Given the description of an element on the screen output the (x, y) to click on. 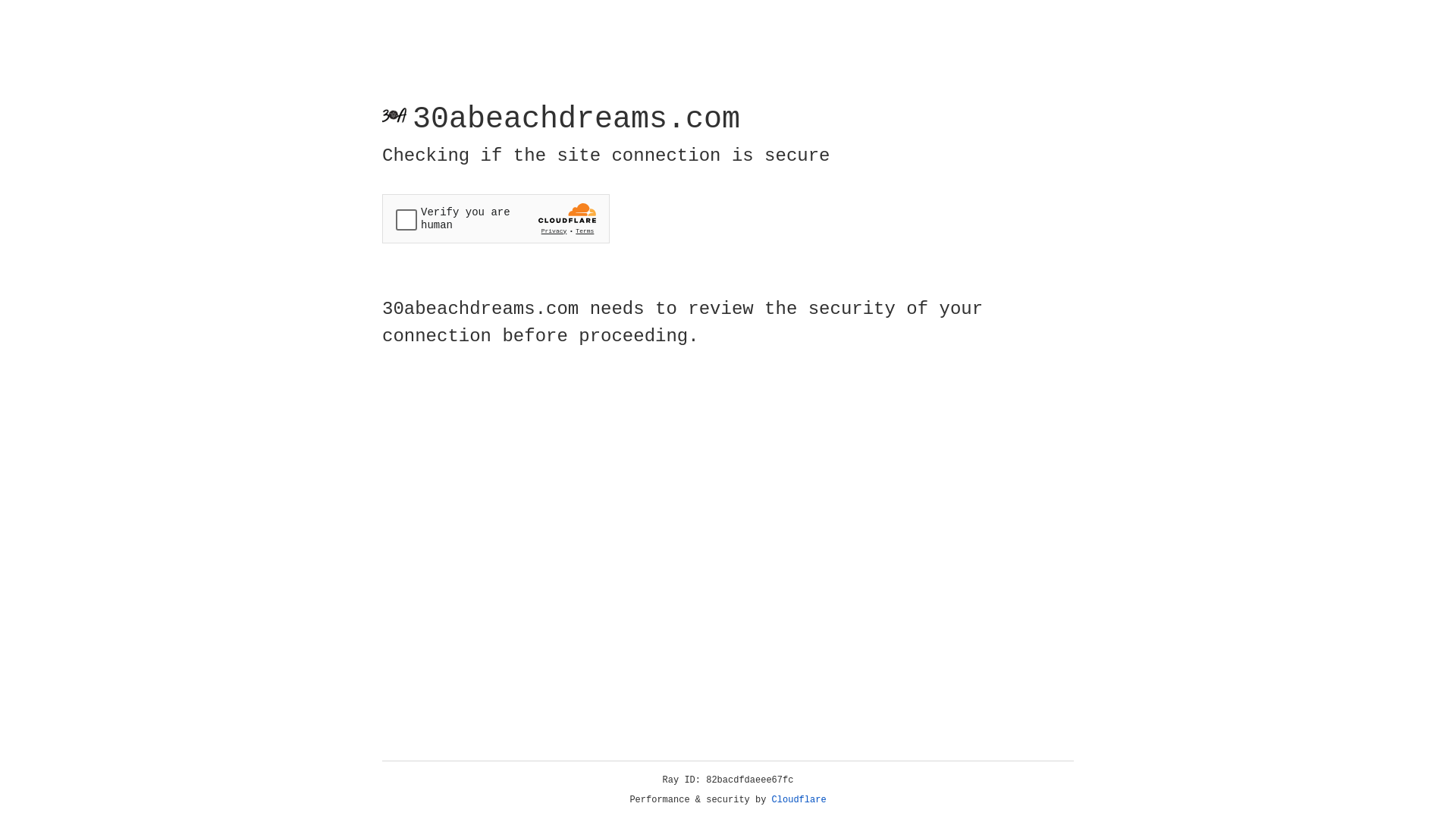
Cloudflare Element type: text (798, 799)
Widget containing a Cloudflare security challenge Element type: hover (495, 218)
